Given the description of an element on the screen output the (x, y) to click on. 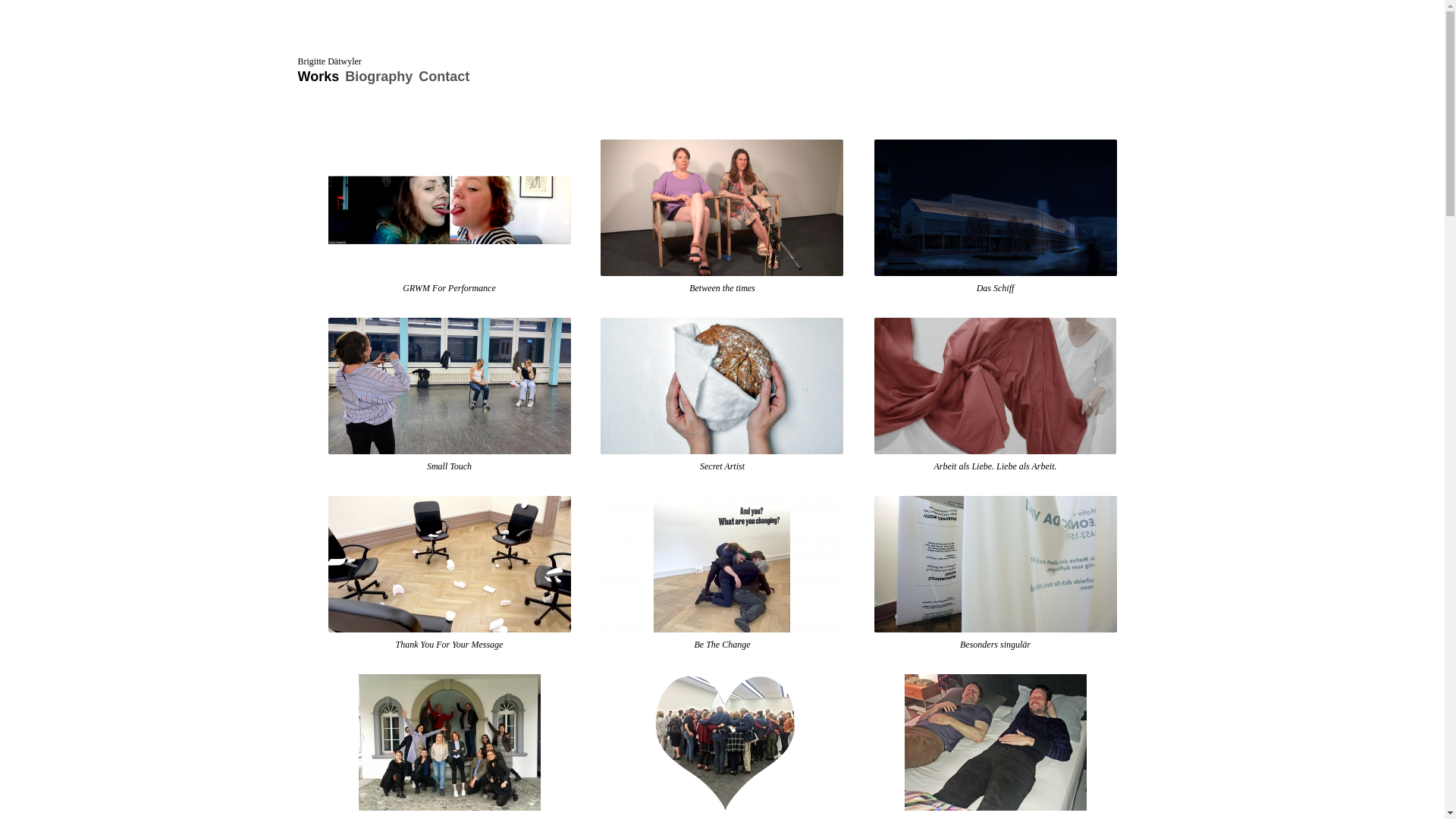
Das Schiff Element type: text (995, 287)
Contact Element type: text (443, 76)
Be The Change Element type: text (721, 644)
Secret Artist Element type: text (721, 466)
Arbeit als Liebe. Liebe als Arbeit. Element type: text (994, 466)
Biography Element type: text (378, 76)
GRWM For Performance Element type: text (448, 287)
Small Touch Element type: text (448, 466)
Between the times Element type: text (722, 287)
Thank You For Your Message Element type: text (449, 644)
Works Element type: text (317, 76)
